Given the description of an element on the screen output the (x, y) to click on. 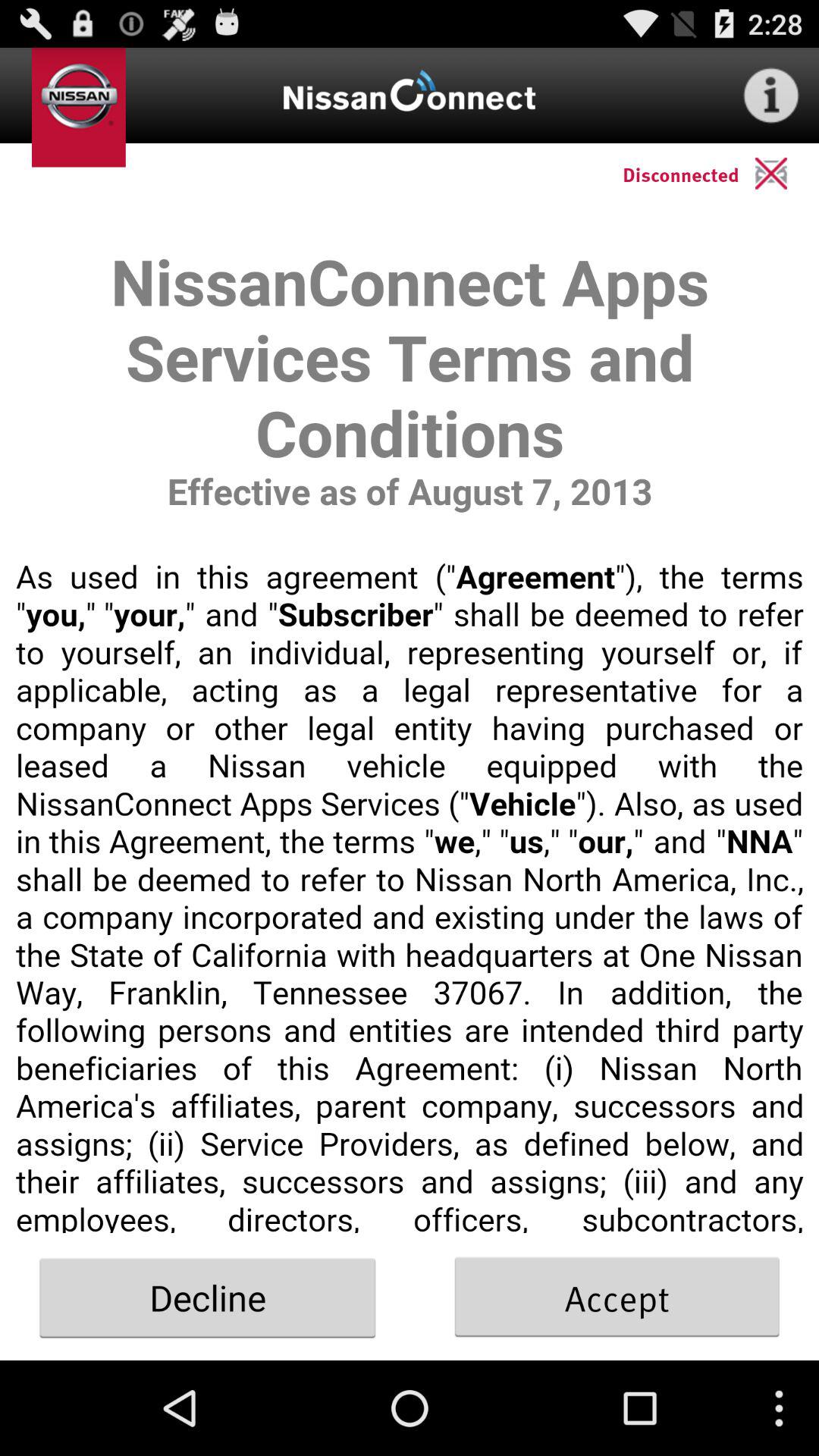
cancel (787, 173)
